Given the description of an element on the screen output the (x, y) to click on. 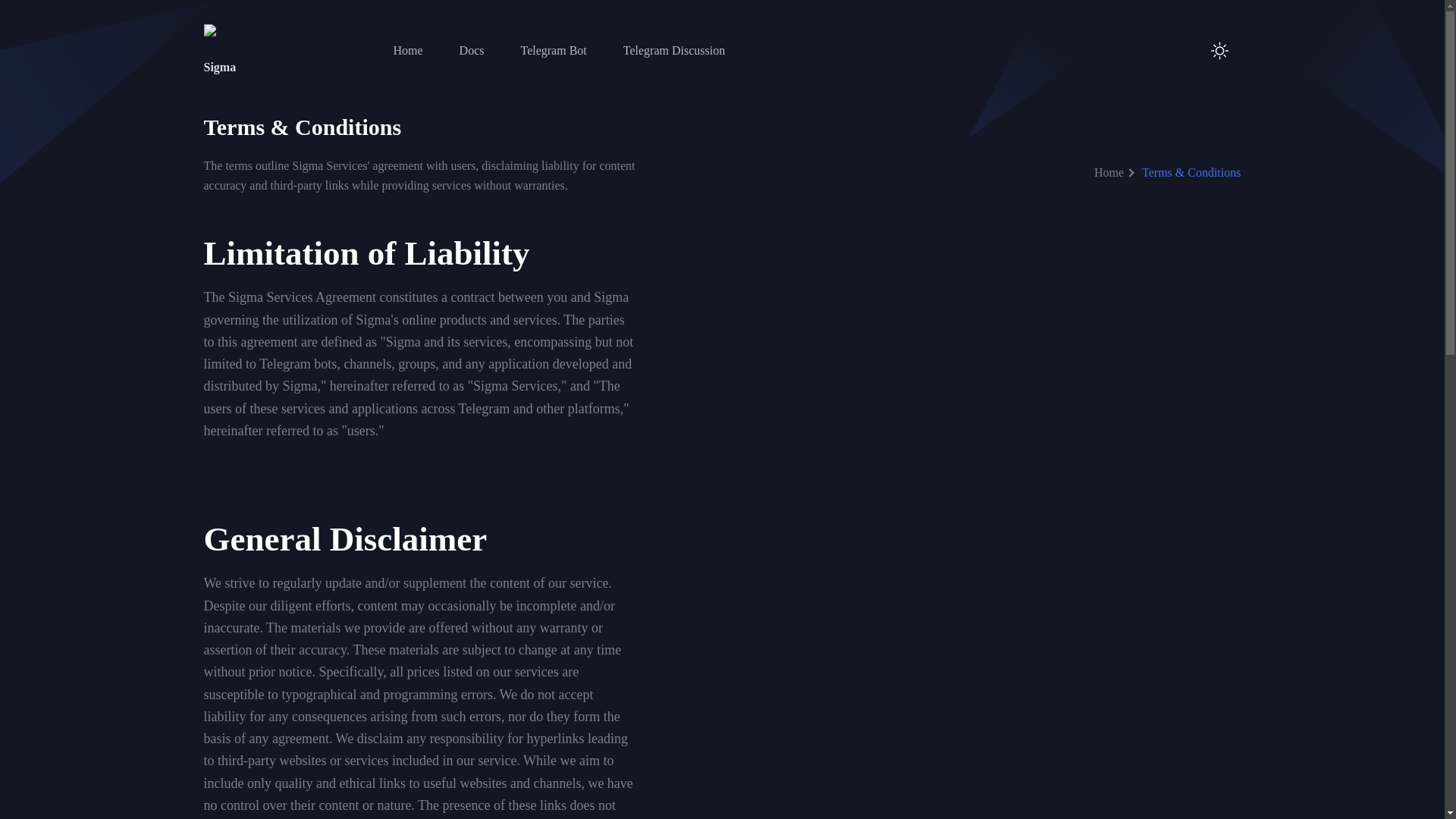
Sigma (267, 50)
Telegram Discussion (674, 49)
Telegram Bot (552, 49)
Home (1110, 172)
